Given the description of an element on the screen output the (x, y) to click on. 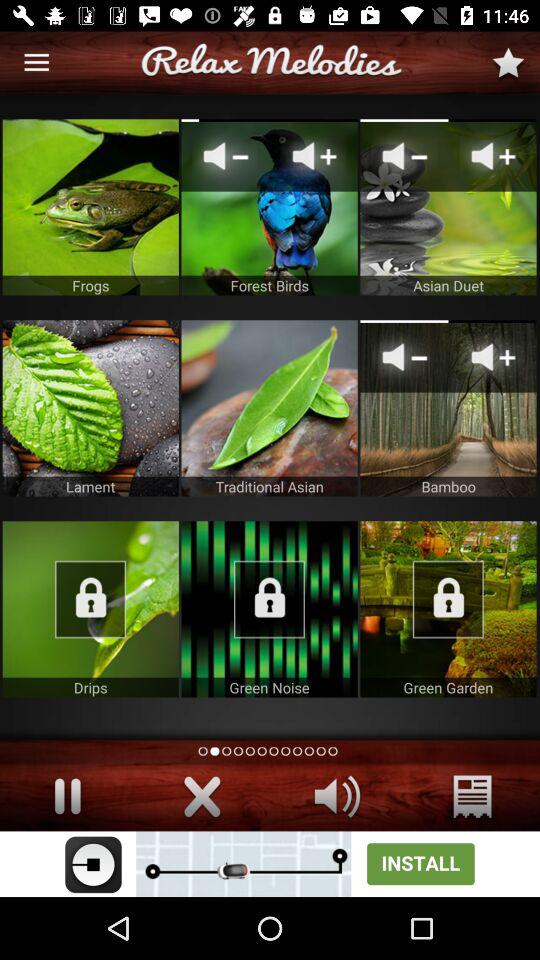
click forest birds app (269, 207)
